Given the description of an element on the screen output the (x, y) to click on. 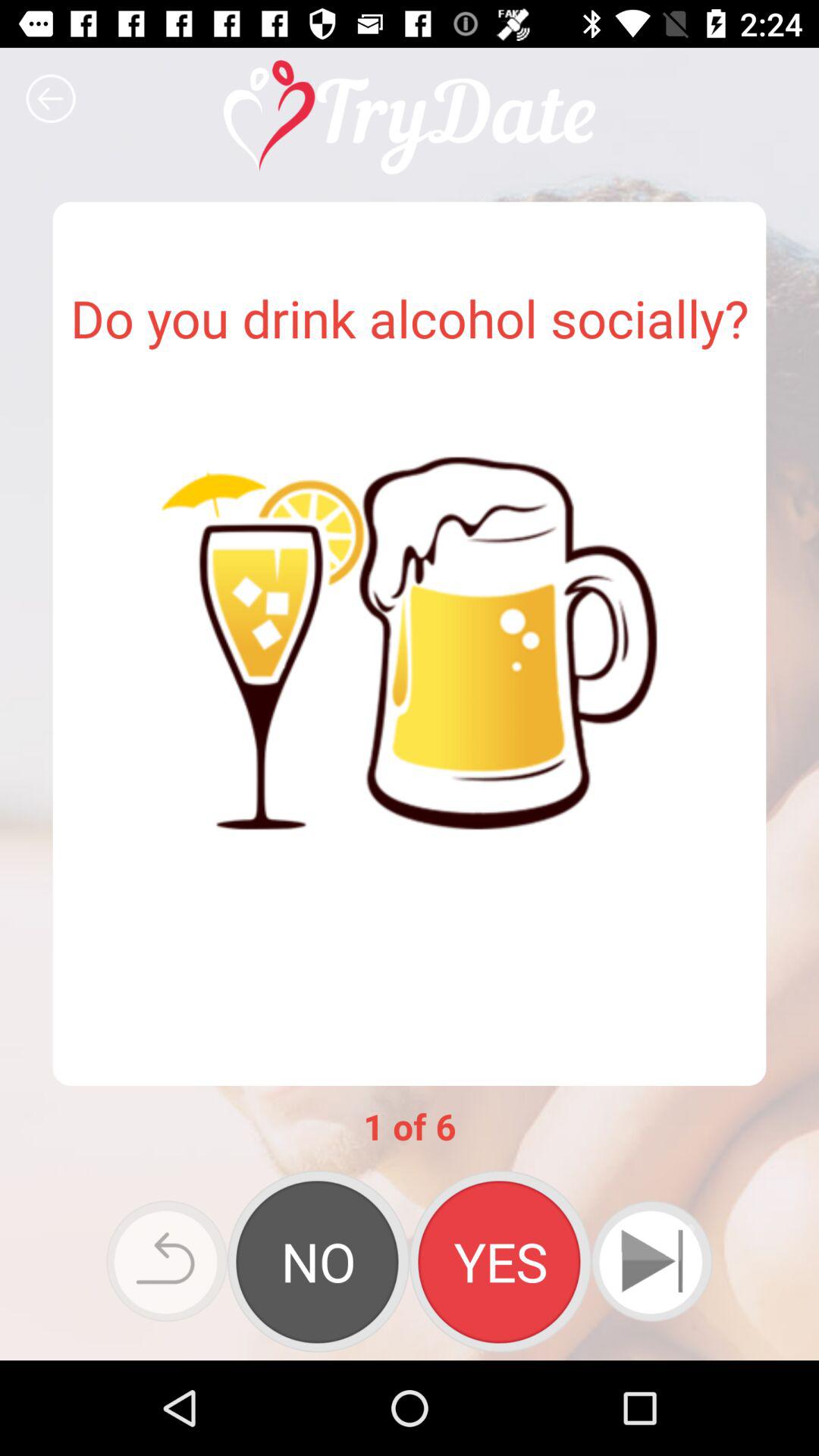
launch the icon at the bottom left corner (166, 1260)
